Given the description of an element on the screen output the (x, y) to click on. 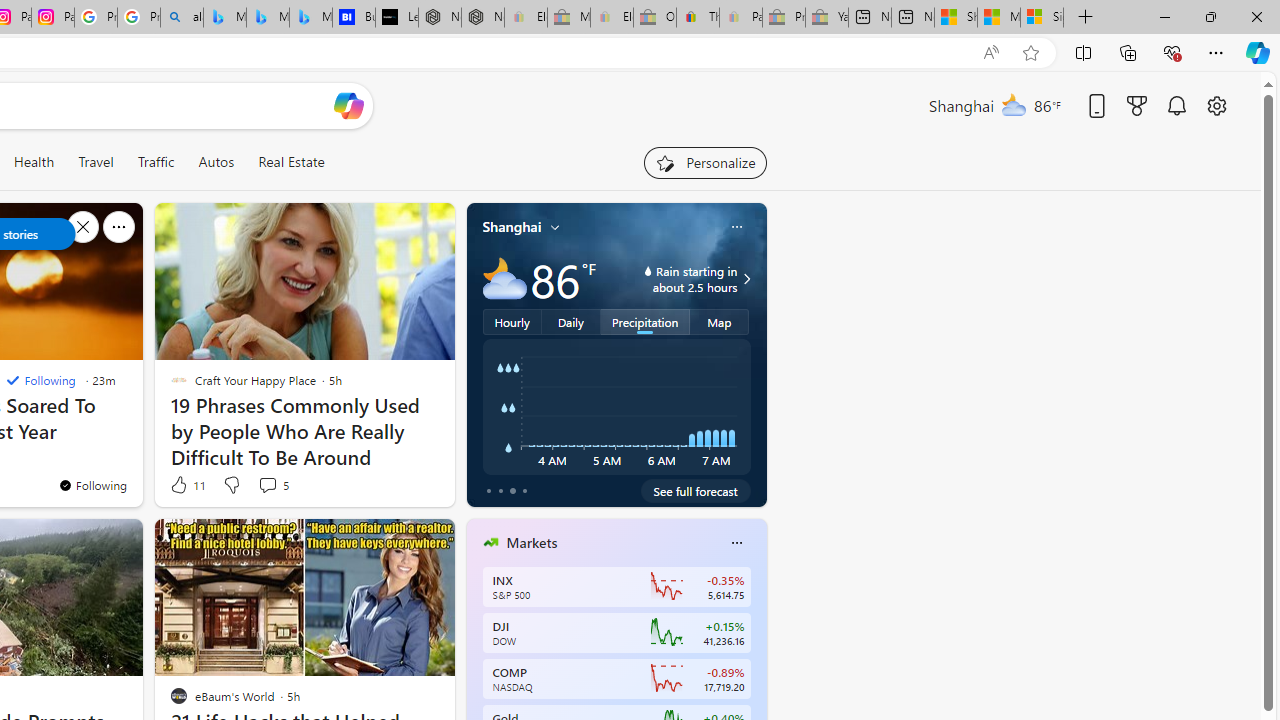
More options (736, 543)
Traffic (155, 162)
Personalize your feed" (704, 162)
Map (719, 321)
tab-3 (524, 490)
Autos (216, 162)
water-drop-icon Rain starting in about 2.5 hours (674, 278)
Settings and more (Alt+F) (1215, 52)
Browser essentials (1171, 52)
Travel (95, 162)
Restore (1210, 16)
tab-1 (500, 490)
